Given the description of an element on the screen output the (x, y) to click on. 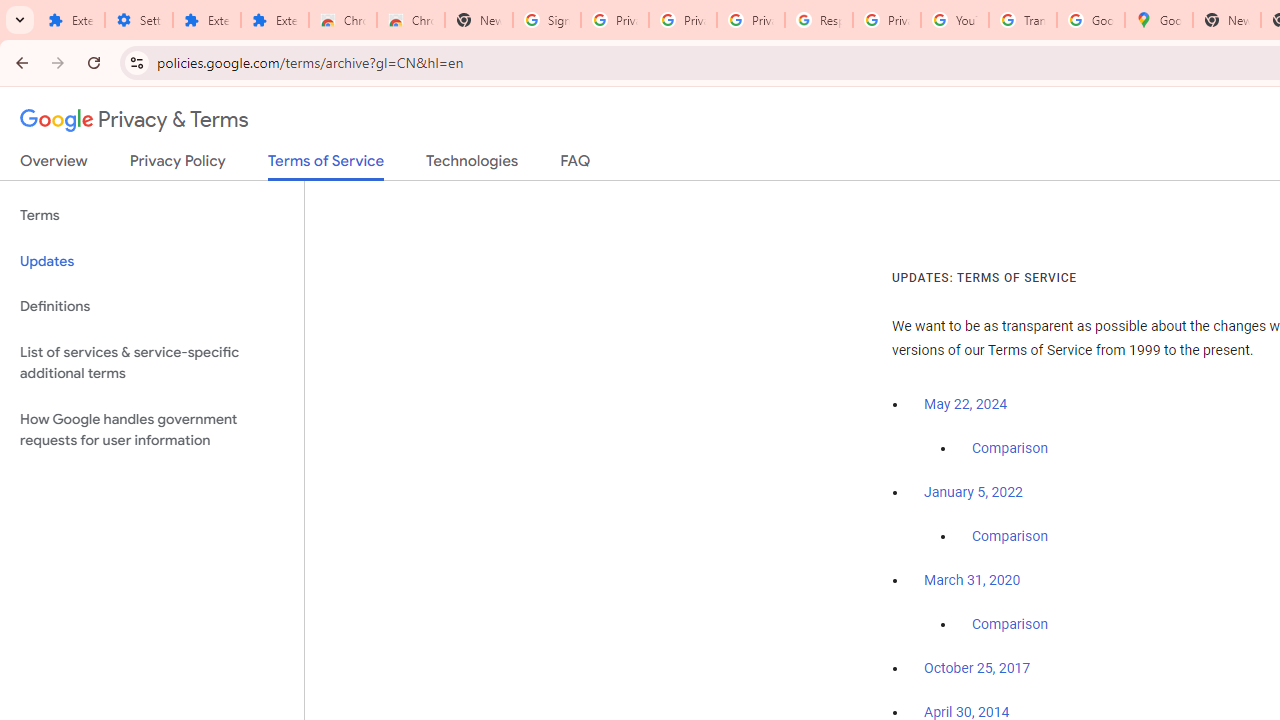
January 5, 2022 (973, 492)
Technologies (472, 165)
Terms (152, 215)
Overview (54, 165)
List of services & service-specific additional terms (152, 362)
Chrome Web Store - Themes (411, 20)
Privacy & Terms (134, 120)
Extensions (274, 20)
